Given the description of an element on the screen output the (x, y) to click on. 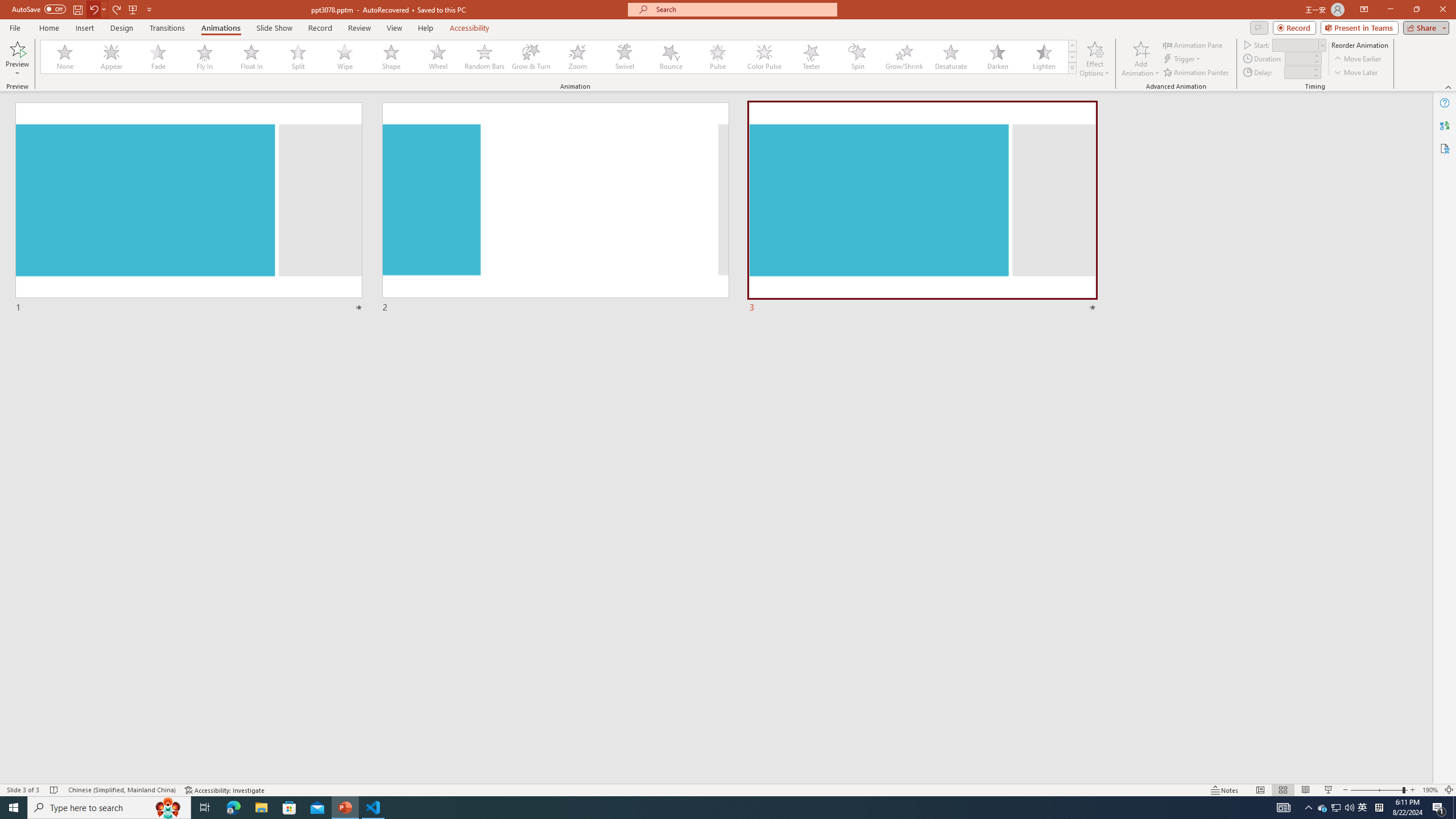
Animation Painter (1196, 72)
Effect Options (1094, 58)
Split (298, 56)
AutomationID: AnimationGallery (558, 56)
Trigger (1182, 58)
None (65, 56)
